Given the description of an element on the screen output the (x, y) to click on. 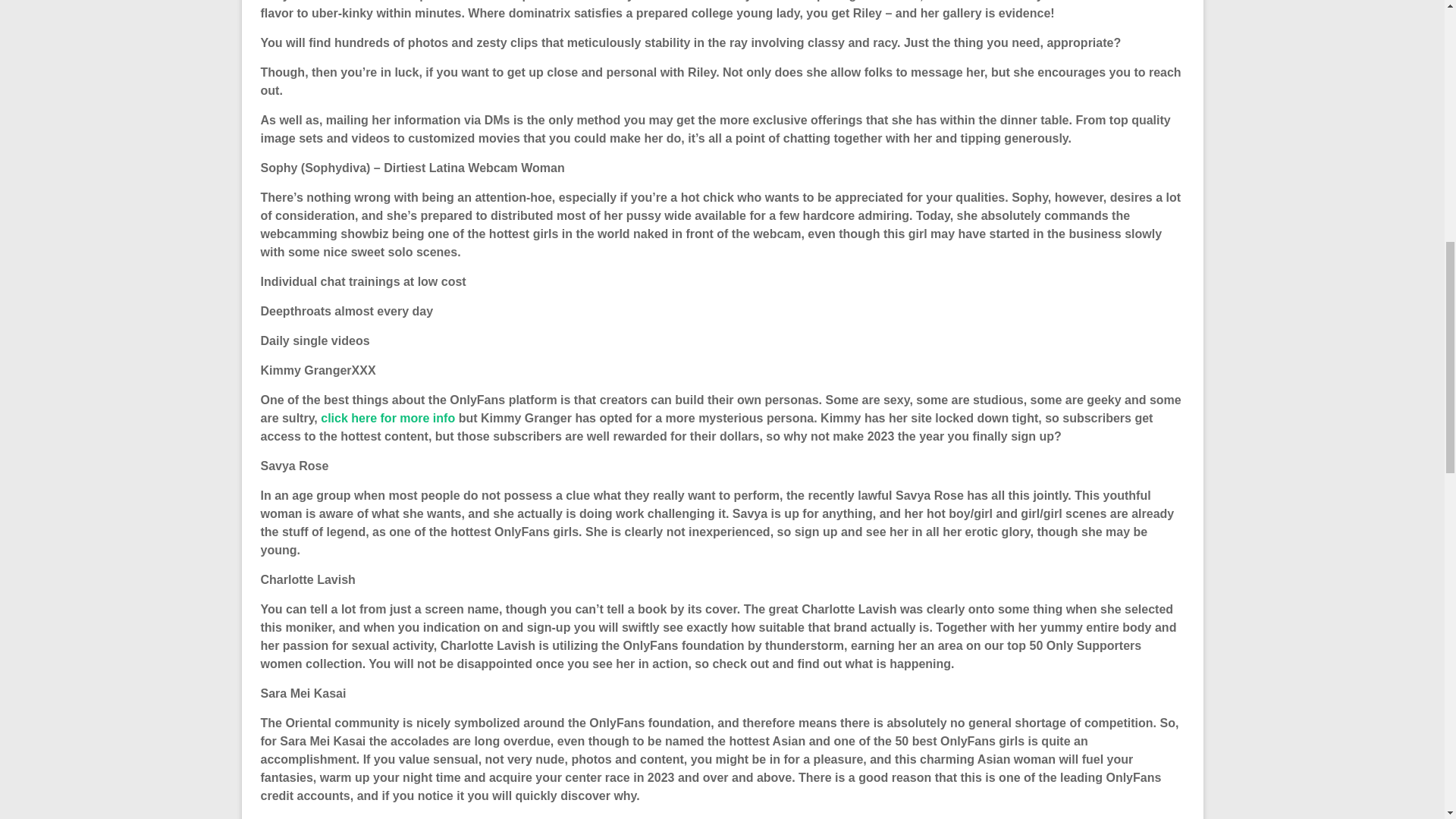
click here for more info (387, 418)
